Given the description of an element on the screen output the (x, y) to click on. 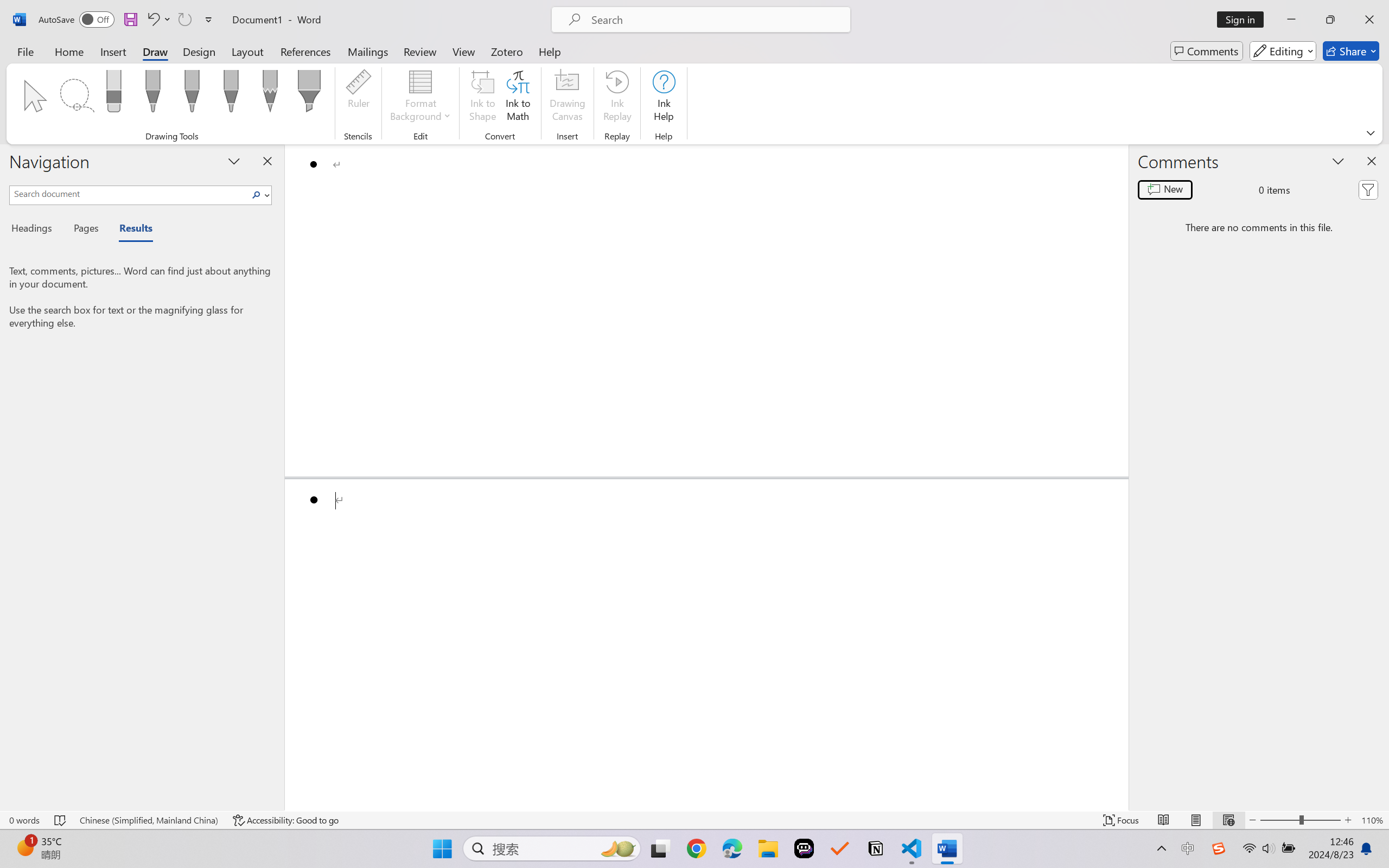
Can't Repeat (184, 19)
Headings (35, 229)
Ink to Math (517, 97)
Results (130, 229)
Search document (128, 193)
Zoom 110% (1372, 819)
